Given the description of an element on the screen output the (x, y) to click on. 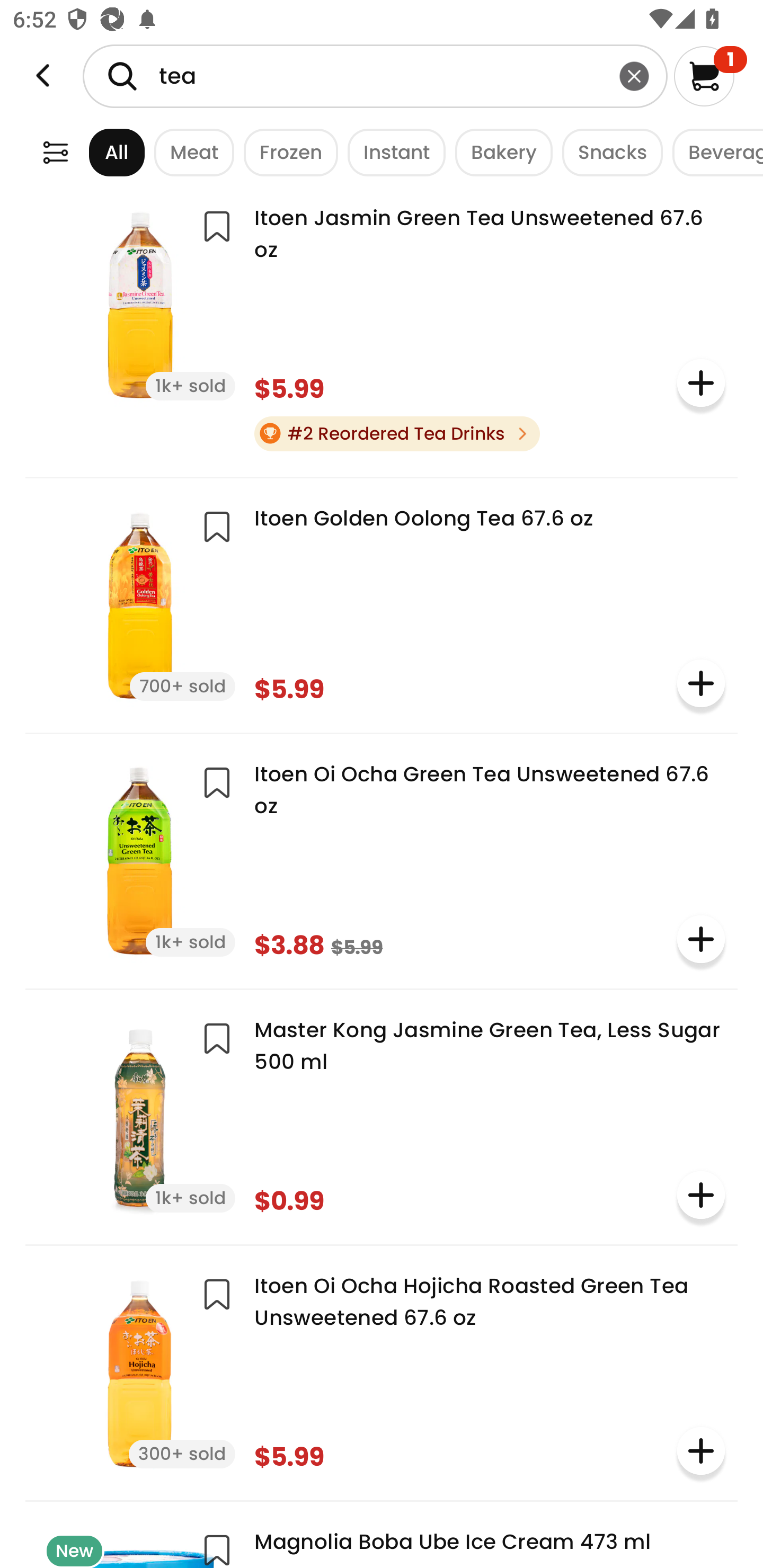
tea (374, 75)
1 (709, 75)
Weee! (42, 76)
Weee! (55, 151)
All (99, 151)
Meat (189, 151)
Frozen (286, 151)
Instant (391, 151)
Bakery (498, 151)
Snacks (607, 151)
Beverages (713, 151)
Itoen Golden Oolong Tea 67.6 oz 700+ sold $5.99 (381, 603)
